Given the description of an element on the screen output the (x, y) to click on. 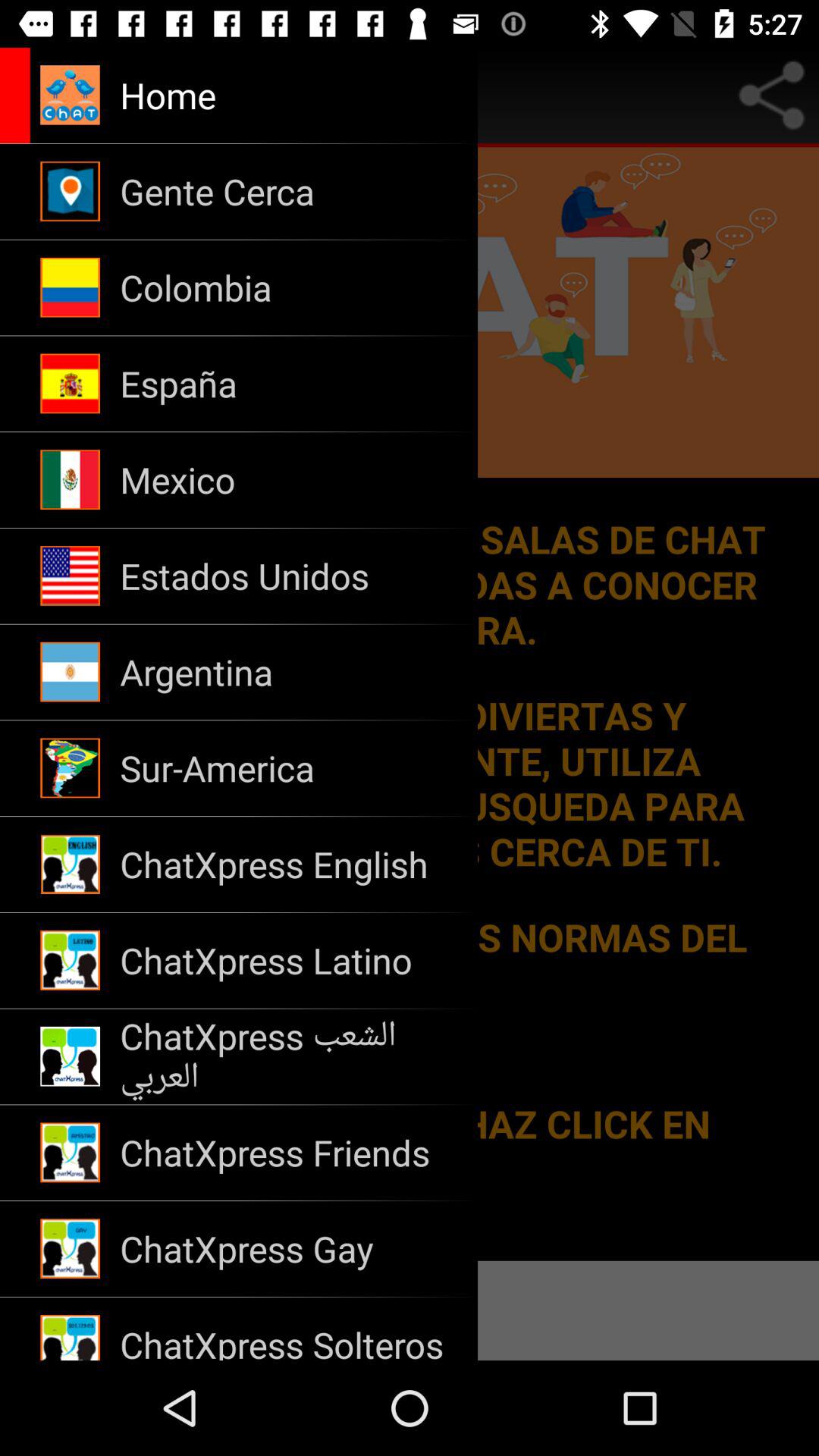
share to option (771, 95)
